Given the description of an element on the screen output the (x, y) to click on. 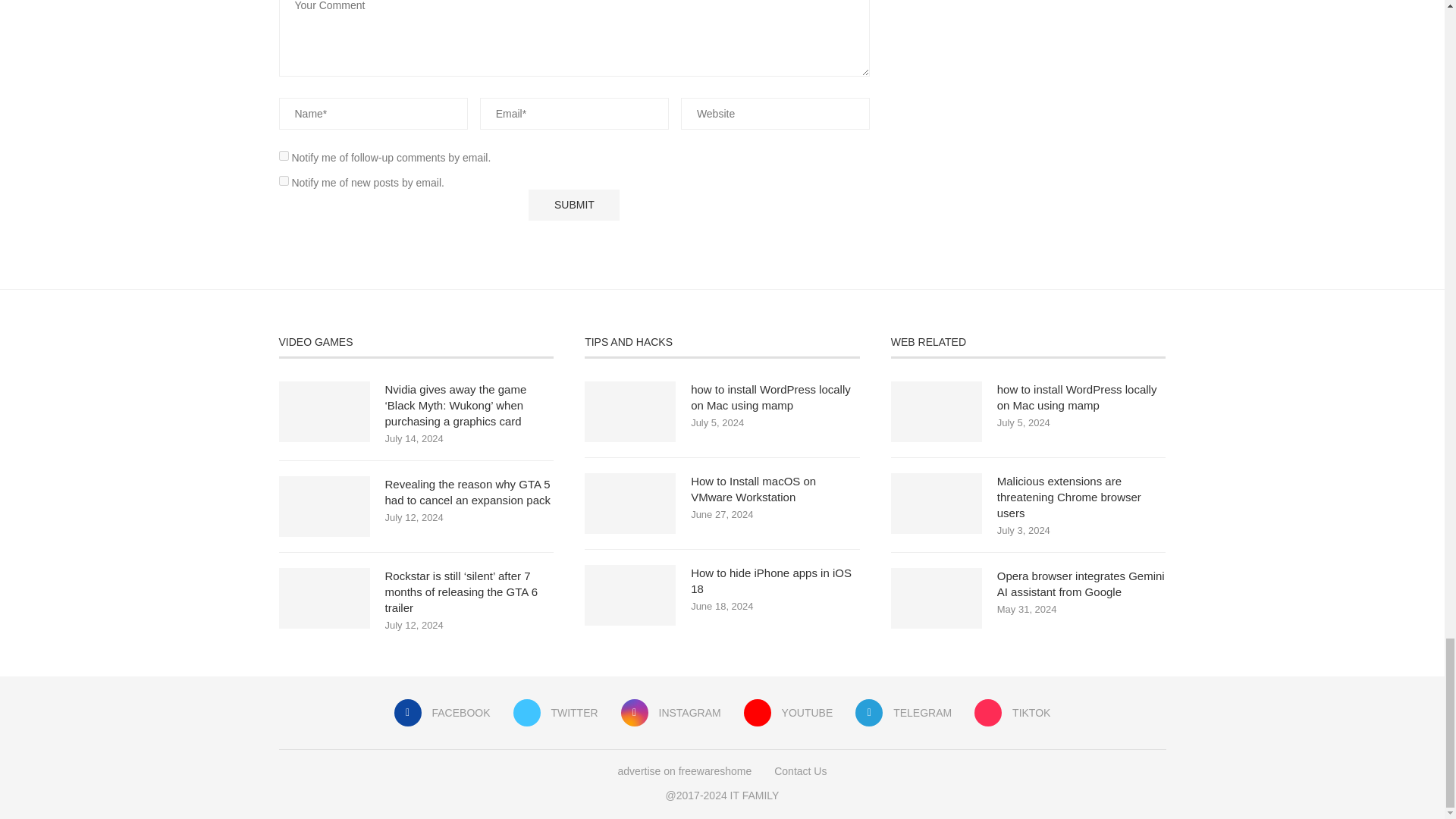
Submit (574, 204)
subscribe (283, 155)
how to install WordPress locally on Mac using mamp (630, 411)
subscribe (283, 180)
